Given the description of an element on the screen output the (x, y) to click on. 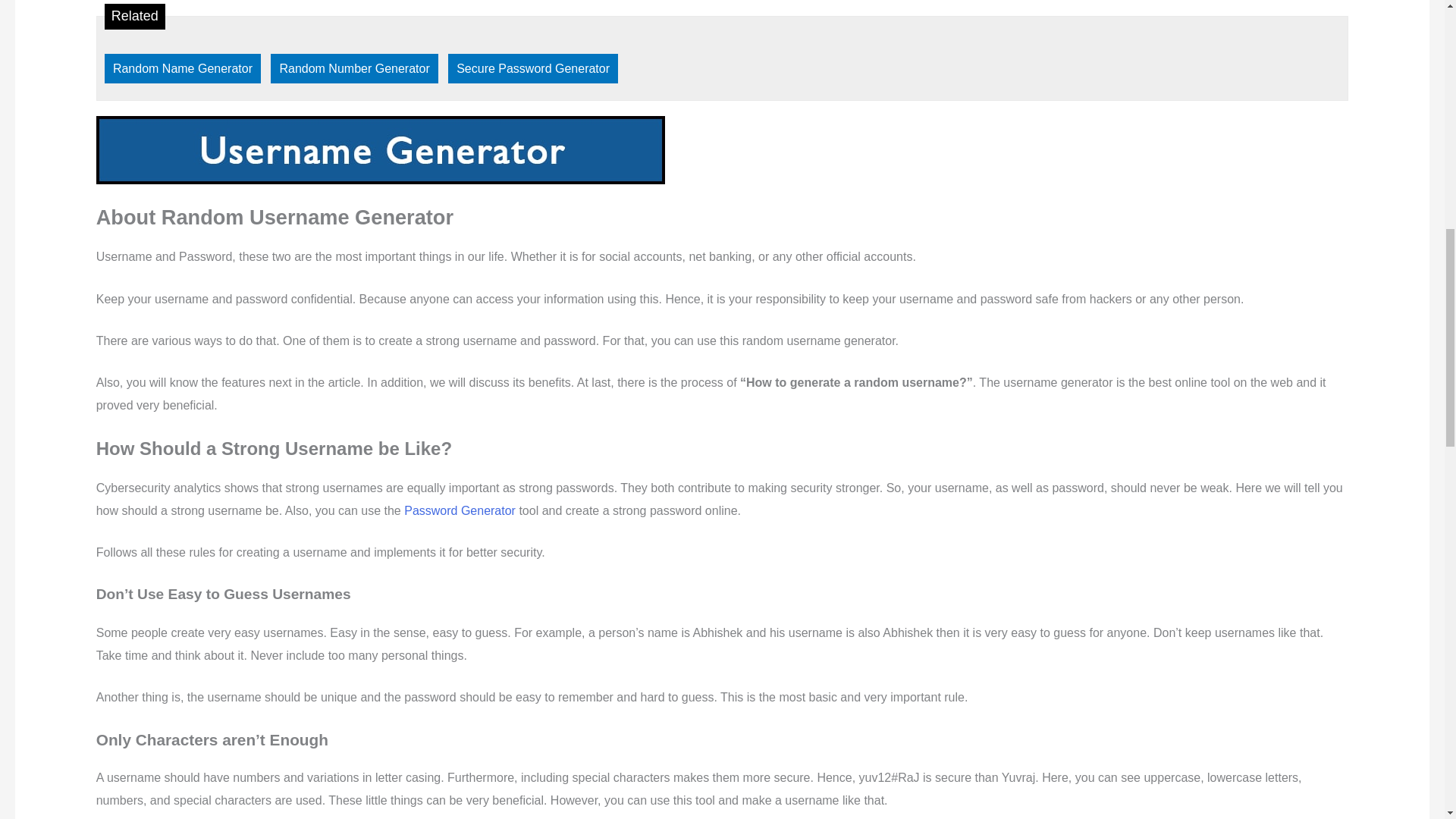
Password Generator (459, 510)
Secure Password Generator (532, 68)
Random Number Generator (354, 68)
Random Name Generator (182, 68)
